Given the description of an element on the screen output the (x, y) to click on. 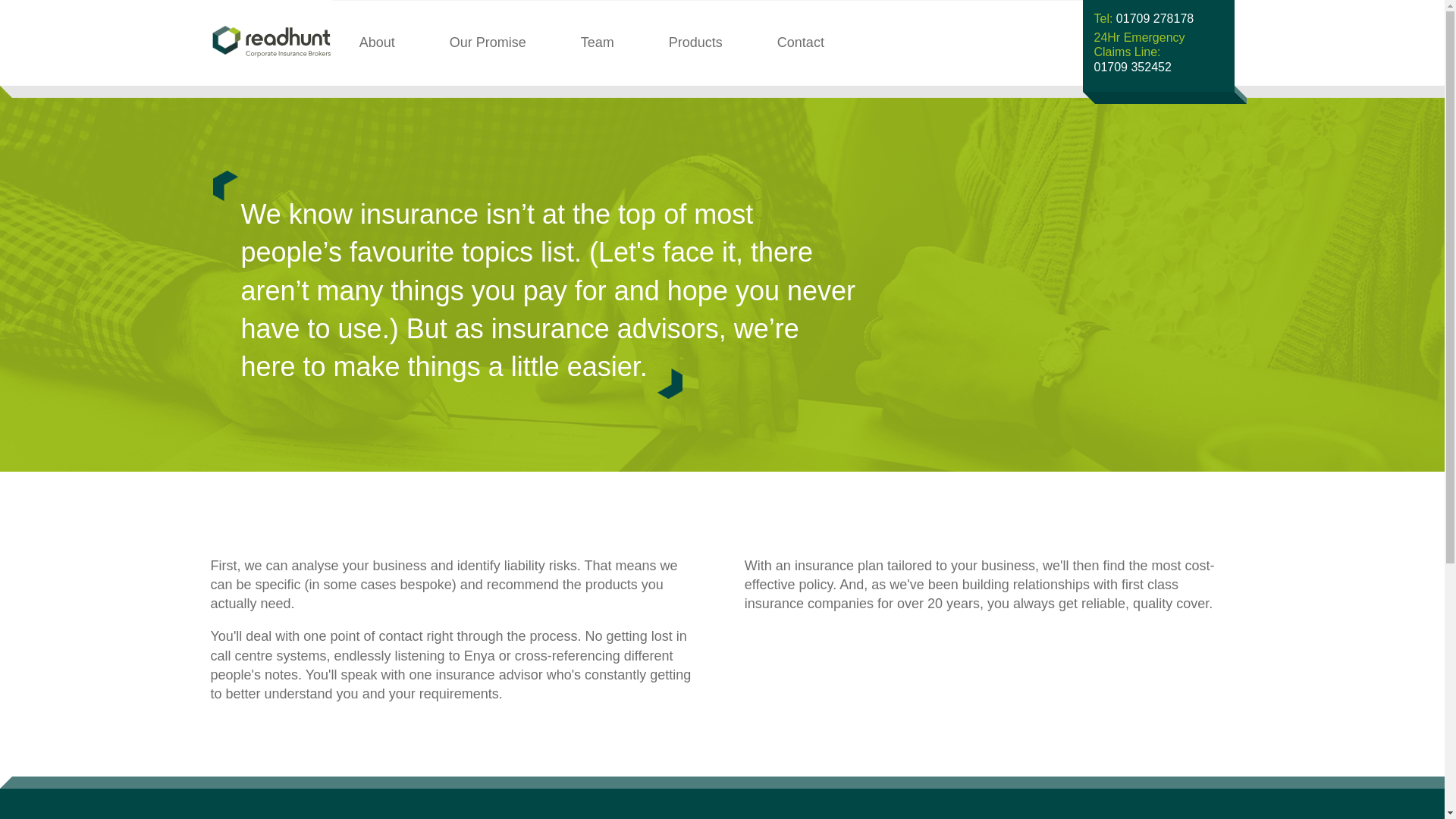
Tel: 01709 278178 (1143, 18)
Our Promise (487, 42)
Team (1158, 52)
Read Hunt (597, 42)
About (253, 42)
Contact (376, 42)
